Given the description of an element on the screen output the (x, y) to click on. 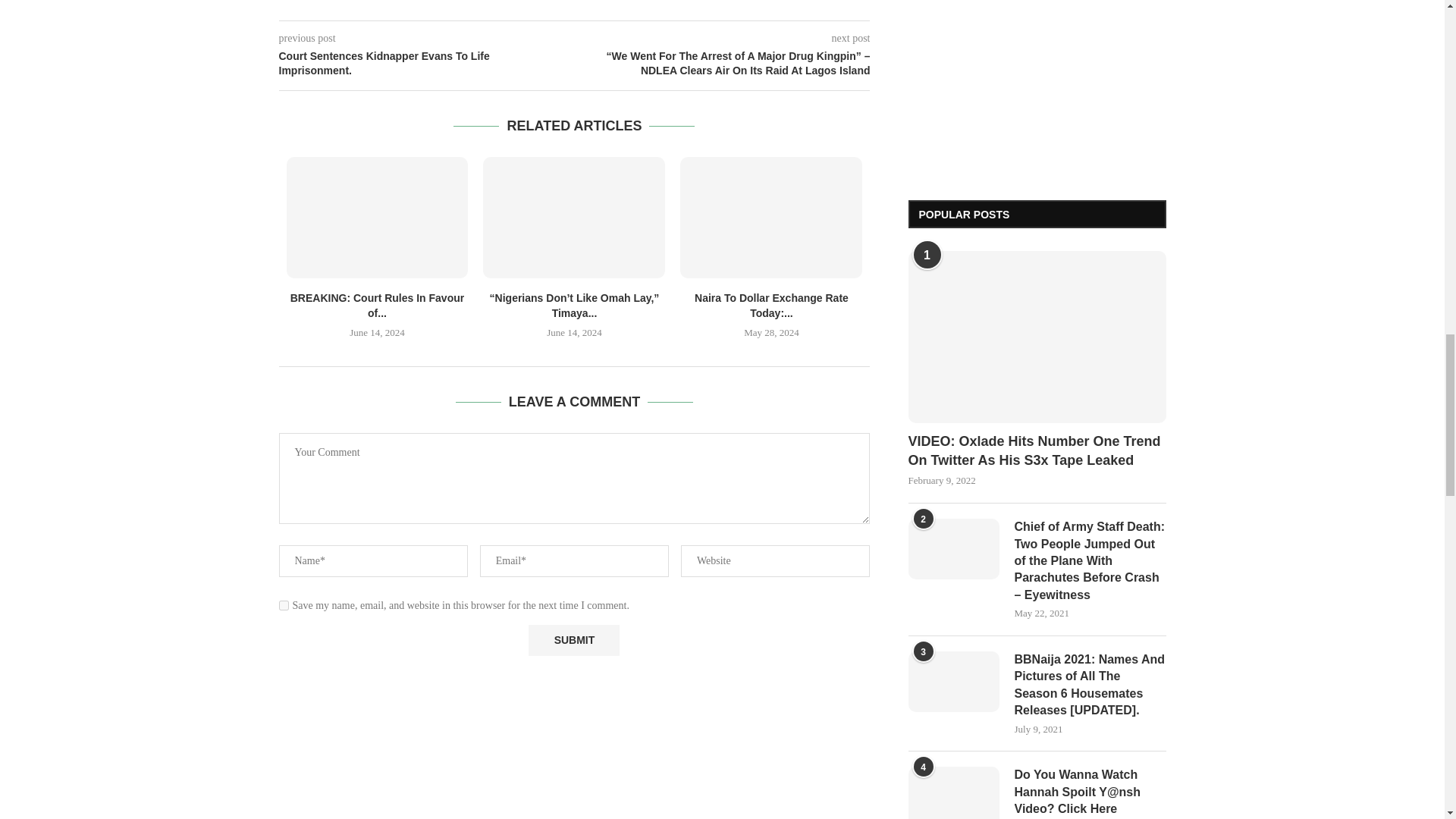
yes (283, 605)
Submit (574, 640)
